Given the description of an element on the screen output the (x, y) to click on. 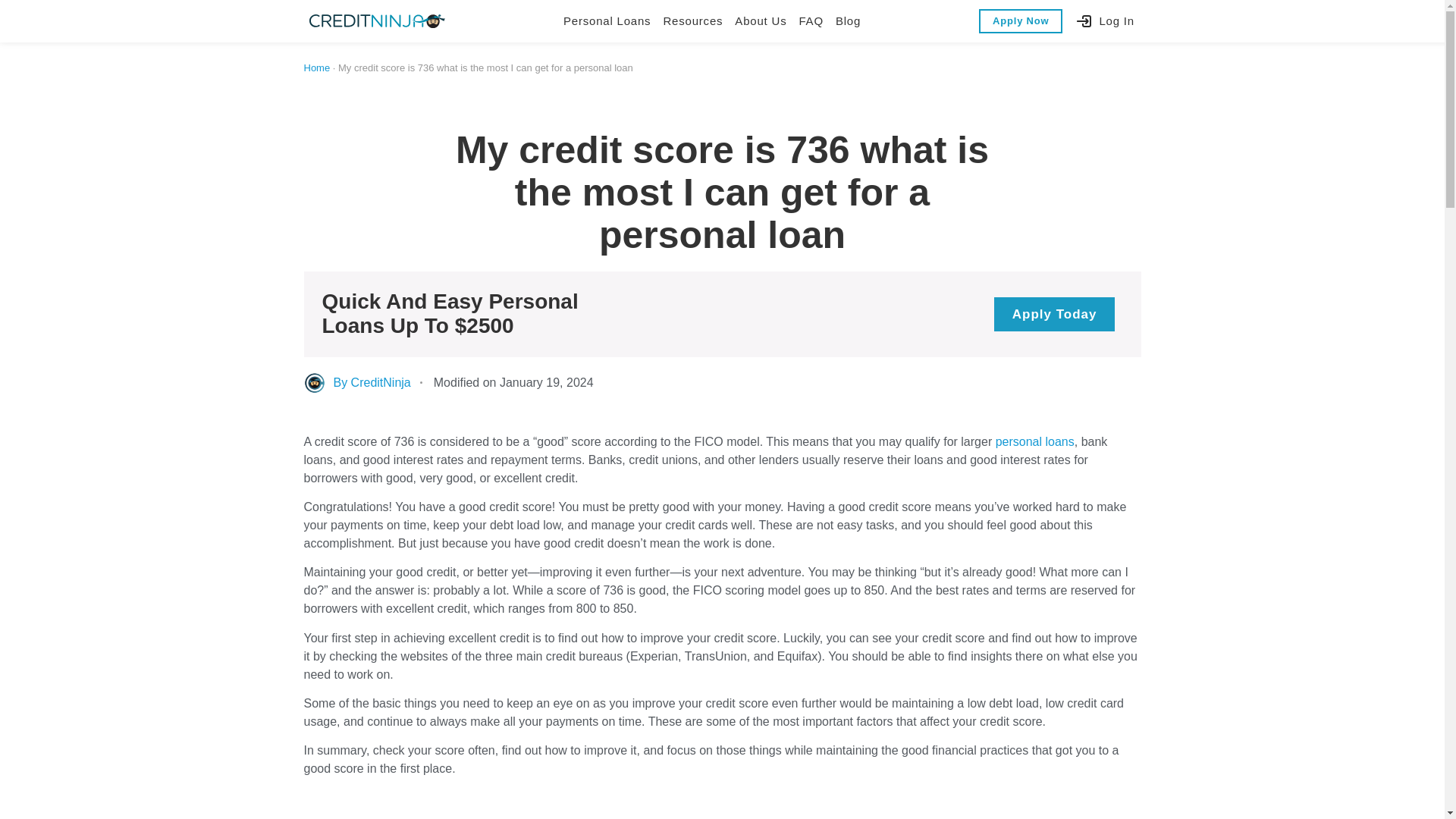
personal loans (1034, 440)
Apply Today (1054, 314)
Resources (692, 21)
Personal Loans (606, 21)
Home (316, 67)
Apply Now (1020, 21)
FAQ (809, 21)
Blog (847, 21)
By CreditNinja (356, 382)
About Us (760, 21)
Log In (1104, 21)
